Given the description of an element on the screen output the (x, y) to click on. 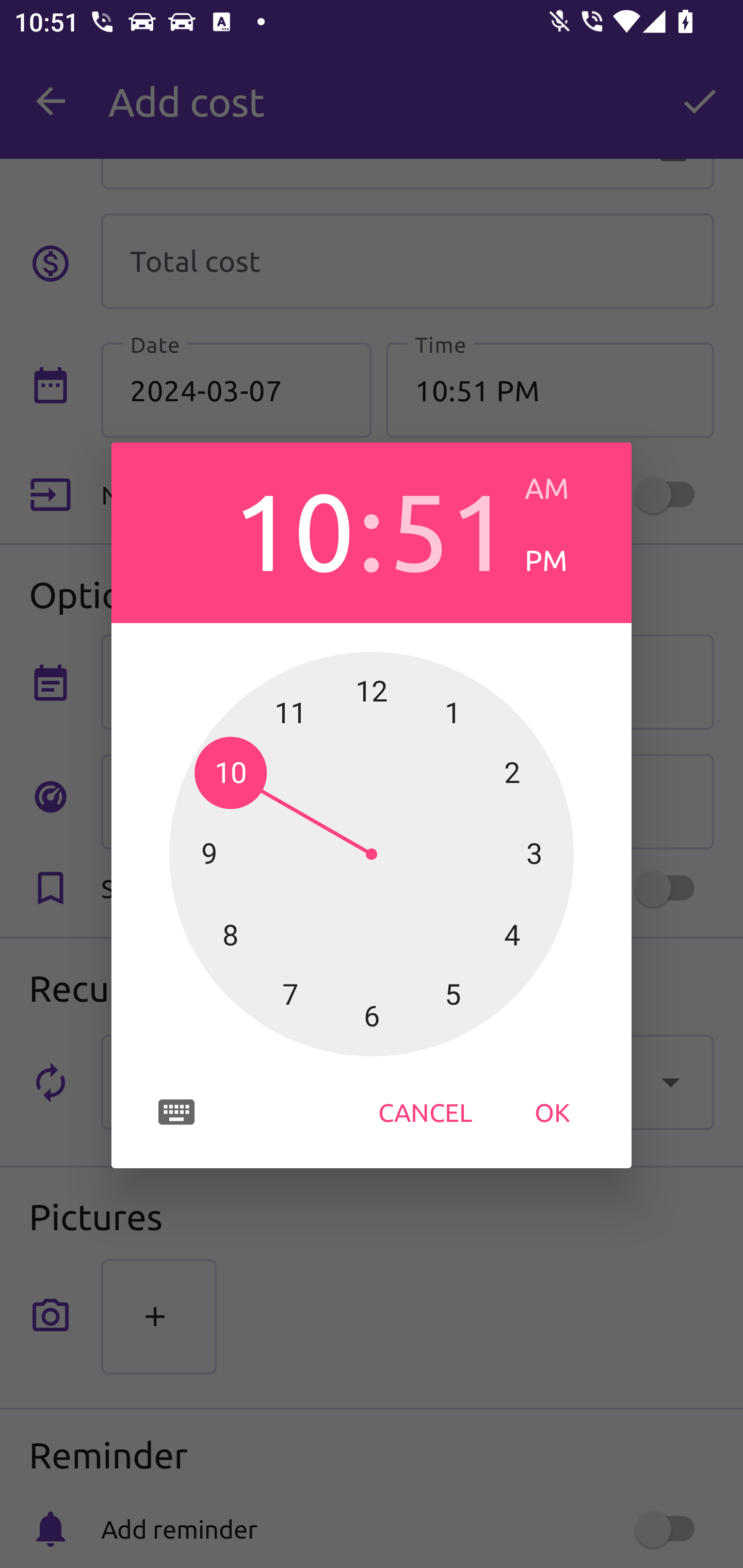
AM (563, 488)
10 (293, 528)
51 (449, 528)
PM (563, 560)
CANCEL (425, 1111)
OK (552, 1111)
Switch to text input mode for the time input. (175, 1112)
